Given the description of an element on the screen output the (x, y) to click on. 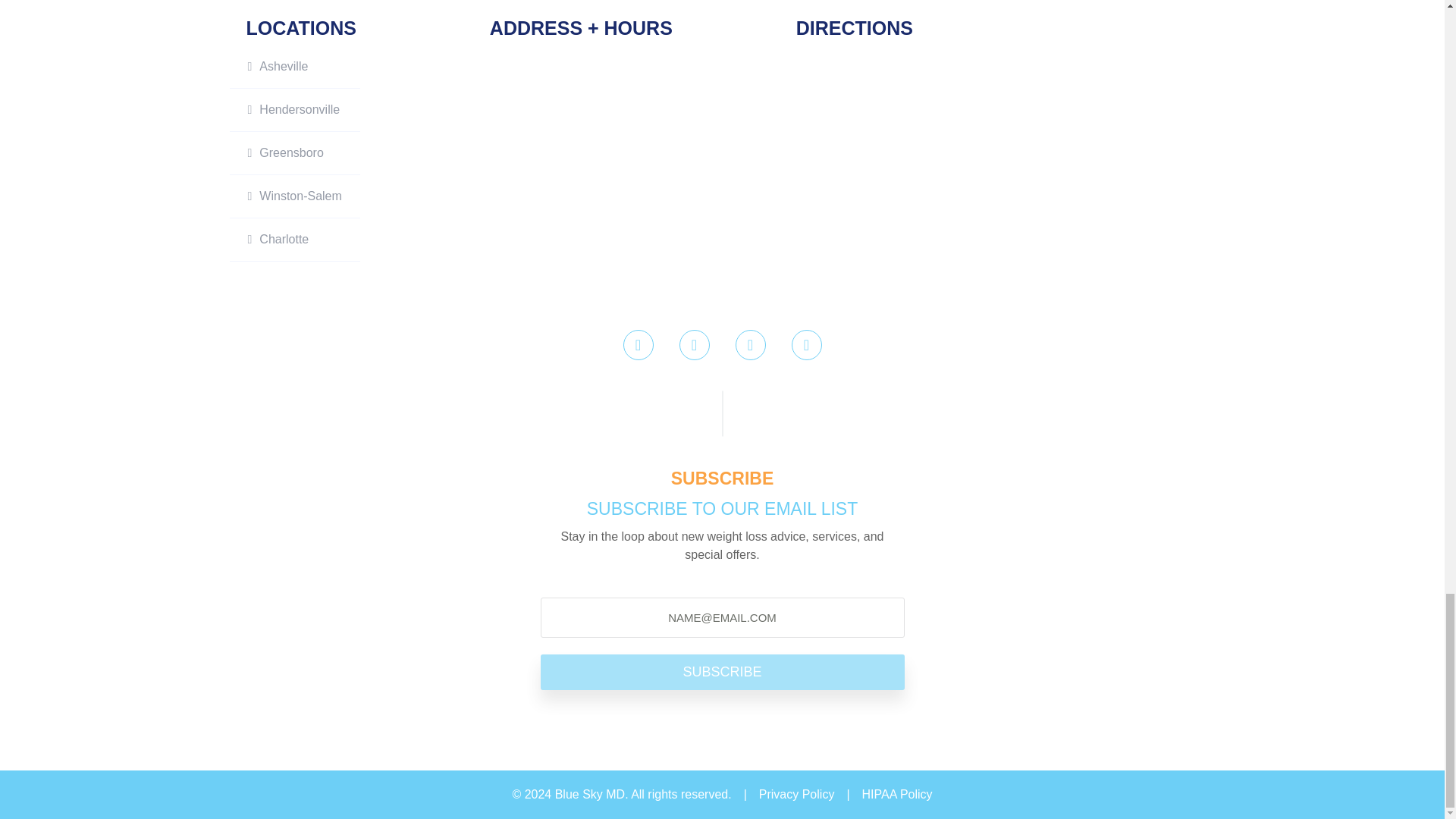
Subscribe (722, 672)
